Given the description of an element on the screen output the (x, y) to click on. 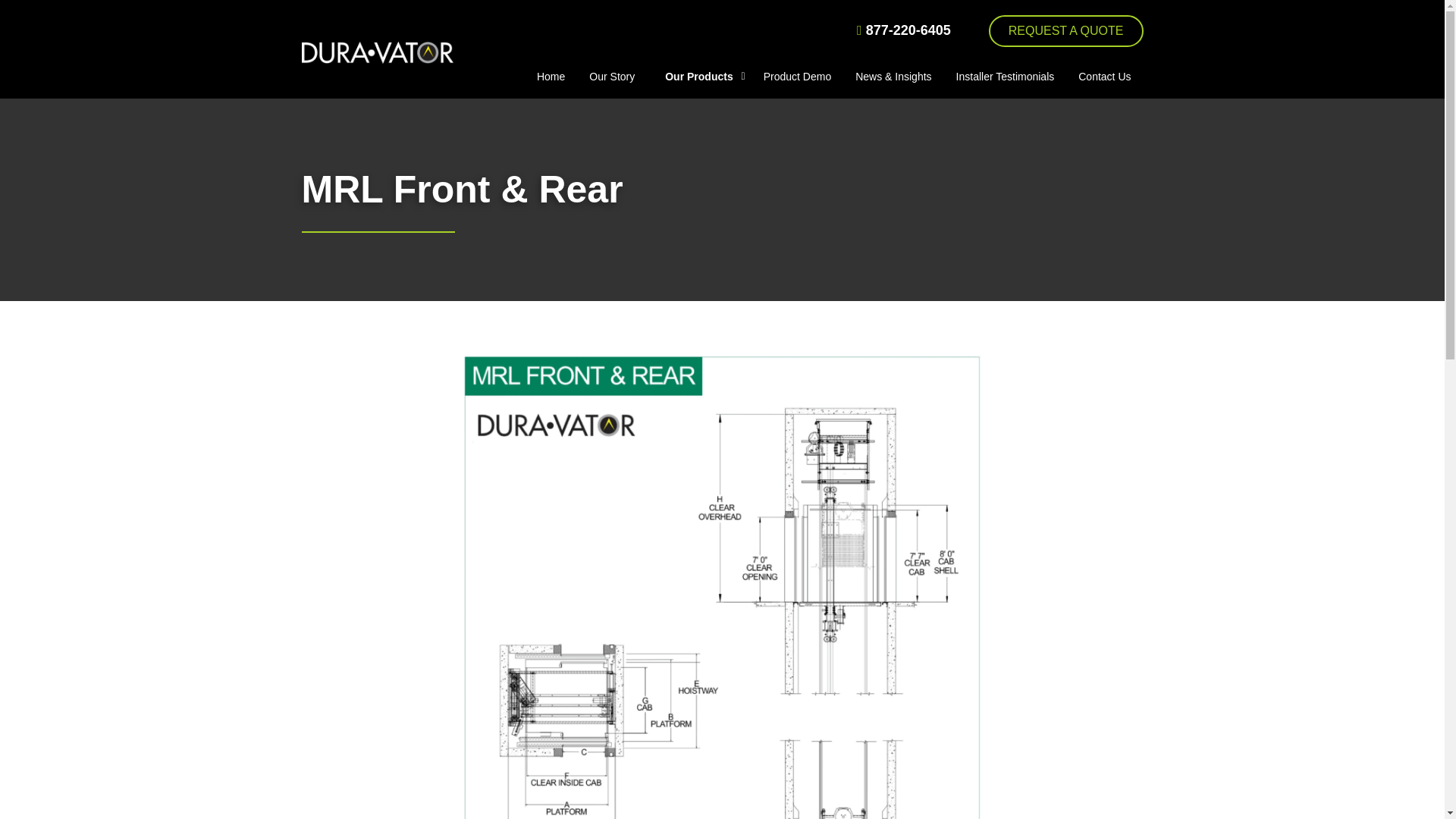
Product Demo (797, 76)
Our Story (611, 76)
Installer Testimonials (1005, 76)
REQUEST A QUOTE (1065, 30)
877-220-6405 (903, 30)
Contact Us (1104, 76)
Home (550, 76)
